Given the description of an element on the screen output the (x, y) to click on. 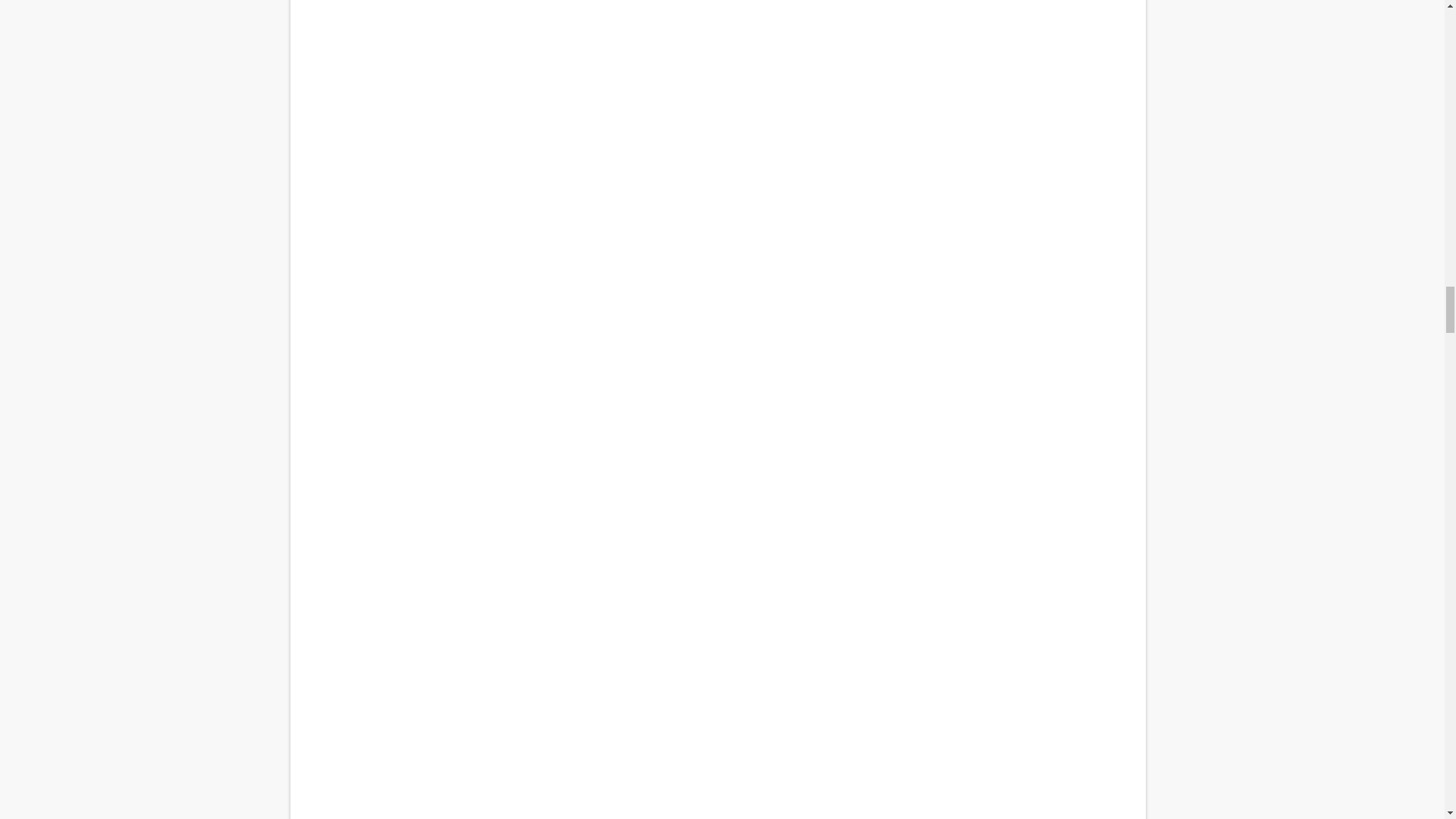
Fill in the blanks (717, 801)
